Given the description of an element on the screen output the (x, y) to click on. 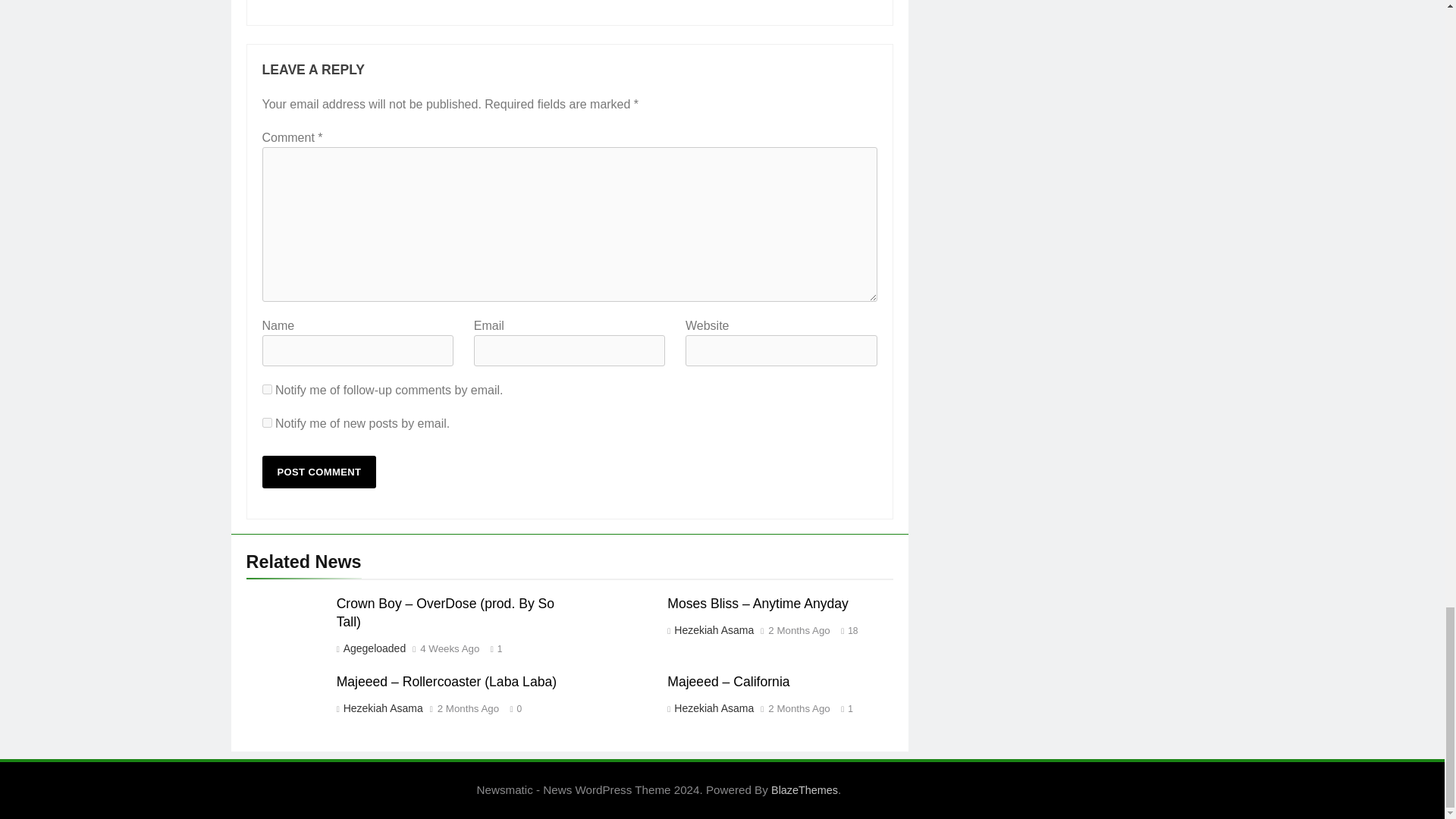
subscribe (267, 422)
subscribe (267, 388)
Post Comment (319, 471)
